Given the description of an element on the screen output the (x, y) to click on. 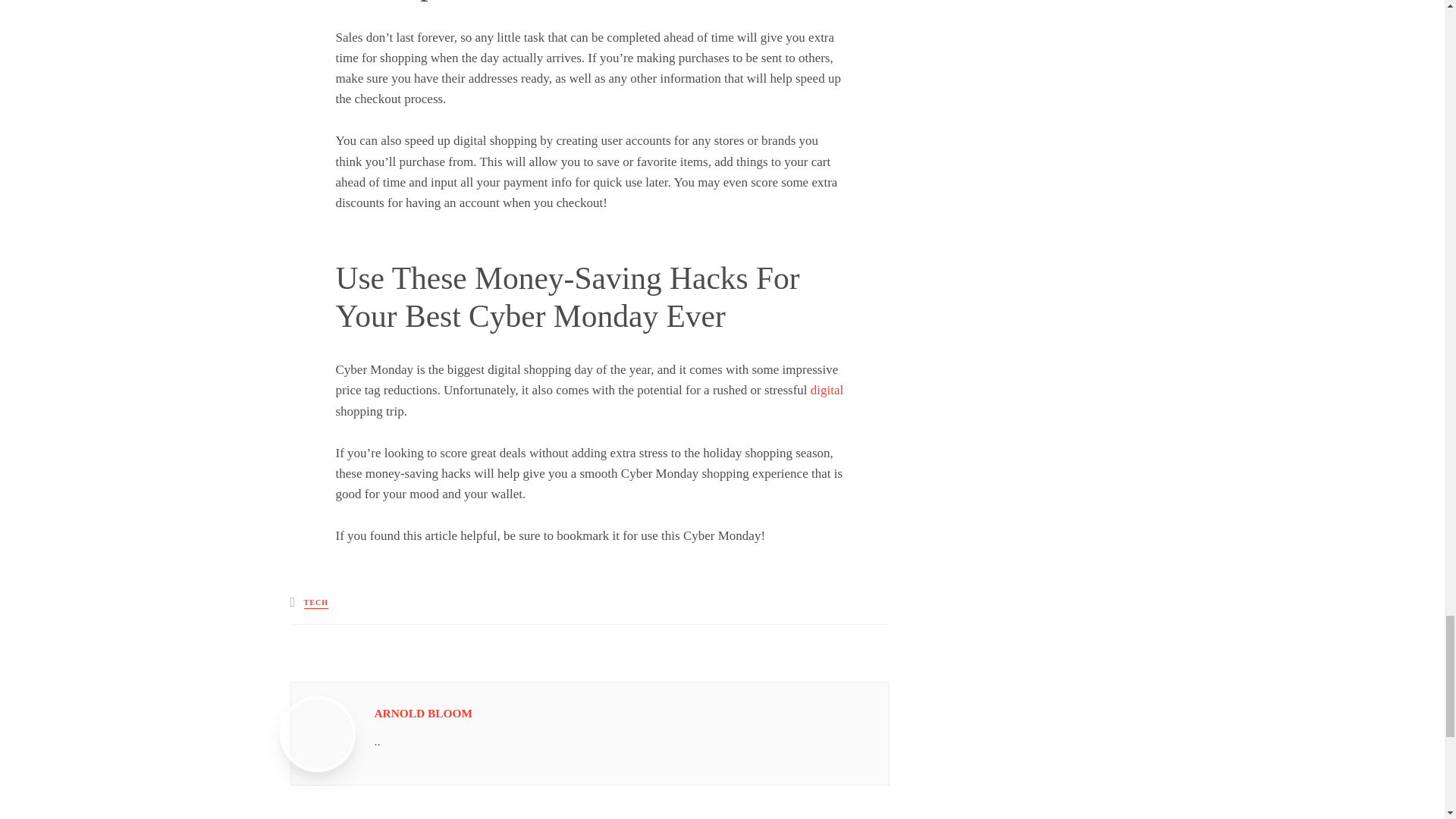
Posts by Arnold Bloom (423, 712)
digital (826, 390)
ARNOLD BLOOM (423, 712)
TECH (316, 603)
